Given the description of an element on the screen output the (x, y) to click on. 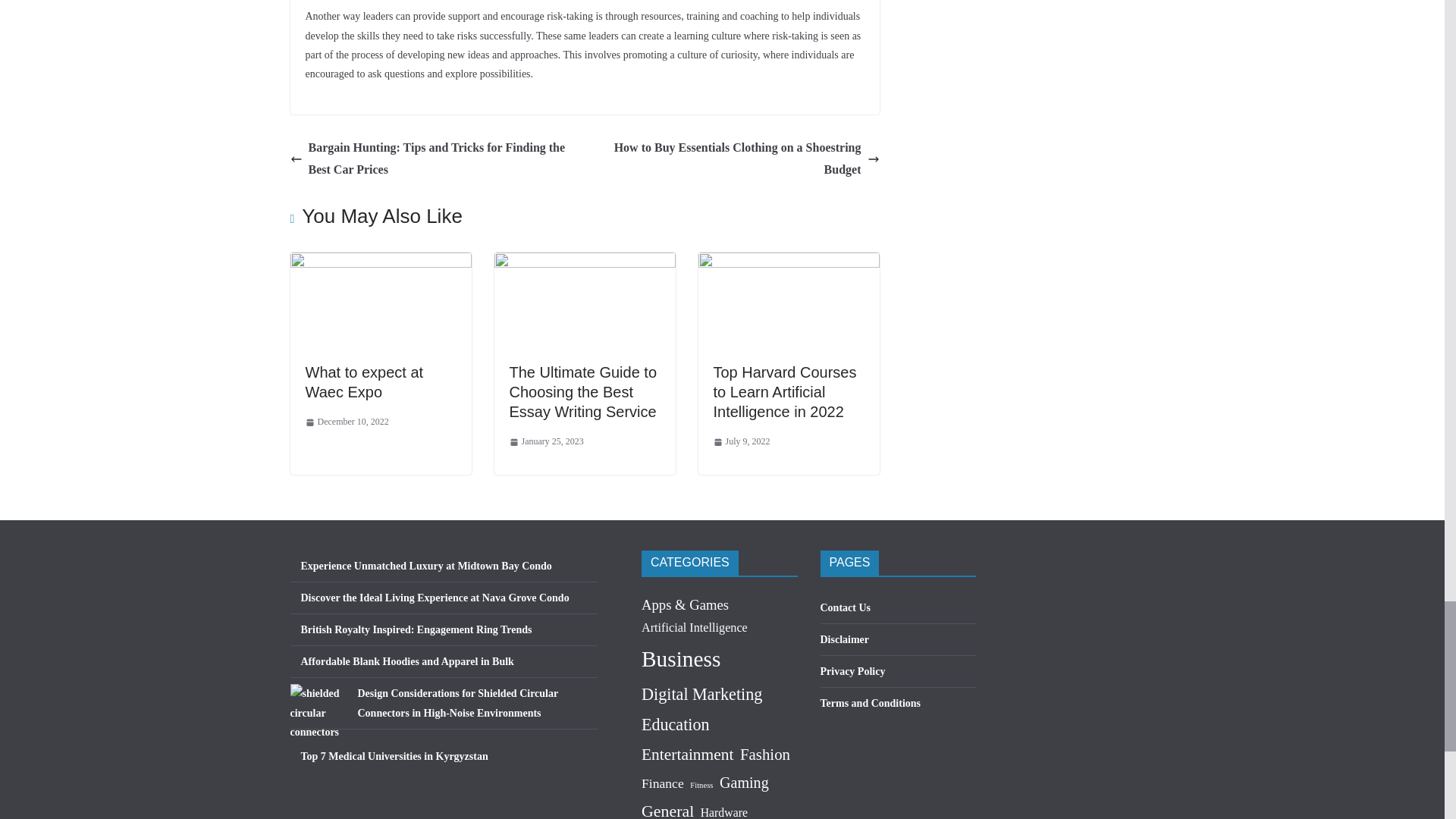
4:37 PM (346, 422)
How to Buy Essentials Clothing on a Shoestring Budget (735, 158)
What to expect at Waec Expo (363, 381)
Top Harvard Courses to Learn Artificial Intelligence in 2022 (788, 262)
December 10, 2022 (346, 422)
What to expect at Waec Expo (379, 262)
What to expect at Waec Expo (363, 381)
5:51 PM (546, 442)
